Given the description of an element on the screen output the (x, y) to click on. 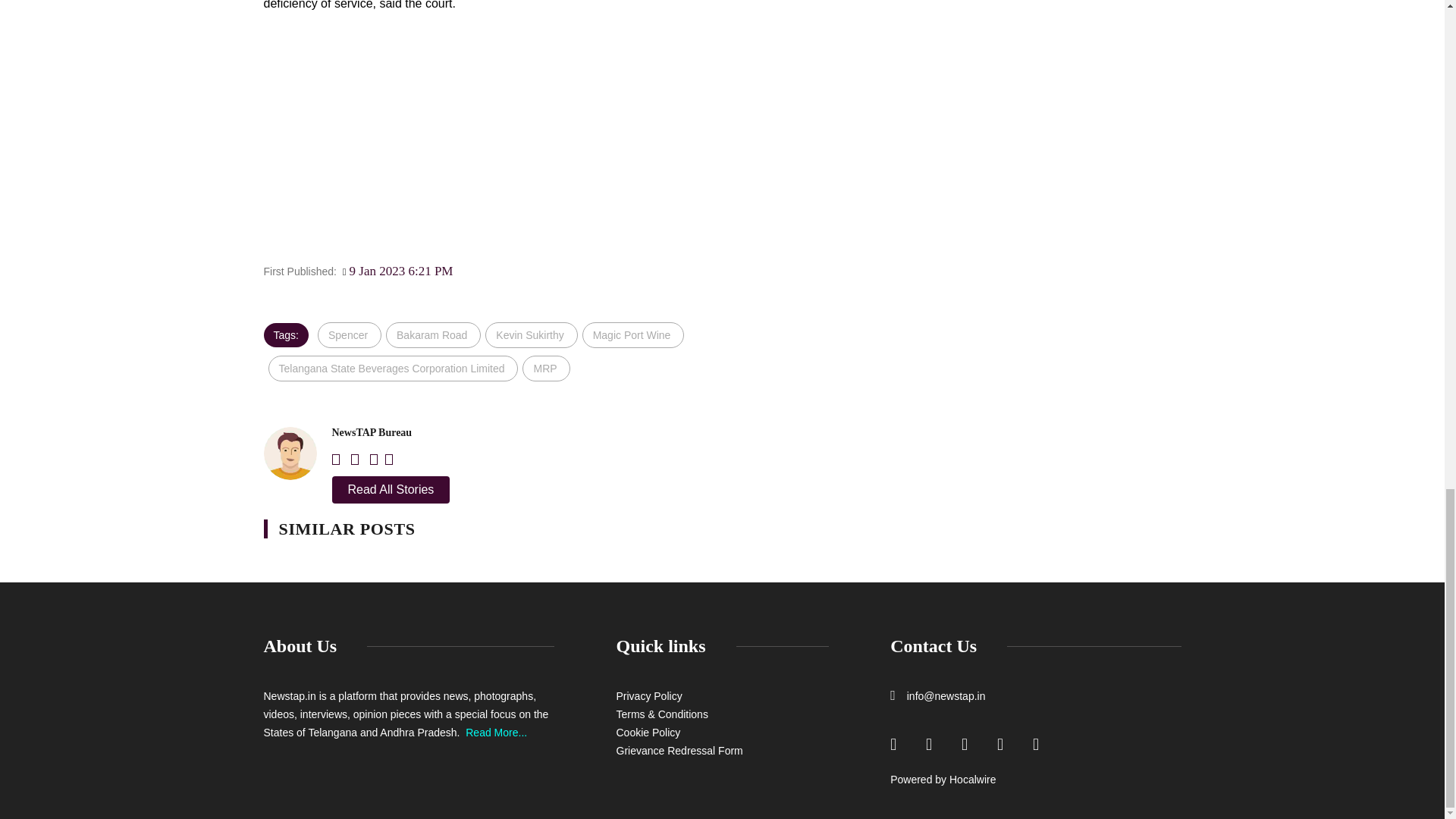
Advertisement (565, 144)
